Given the description of an element on the screen output the (x, y) to click on. 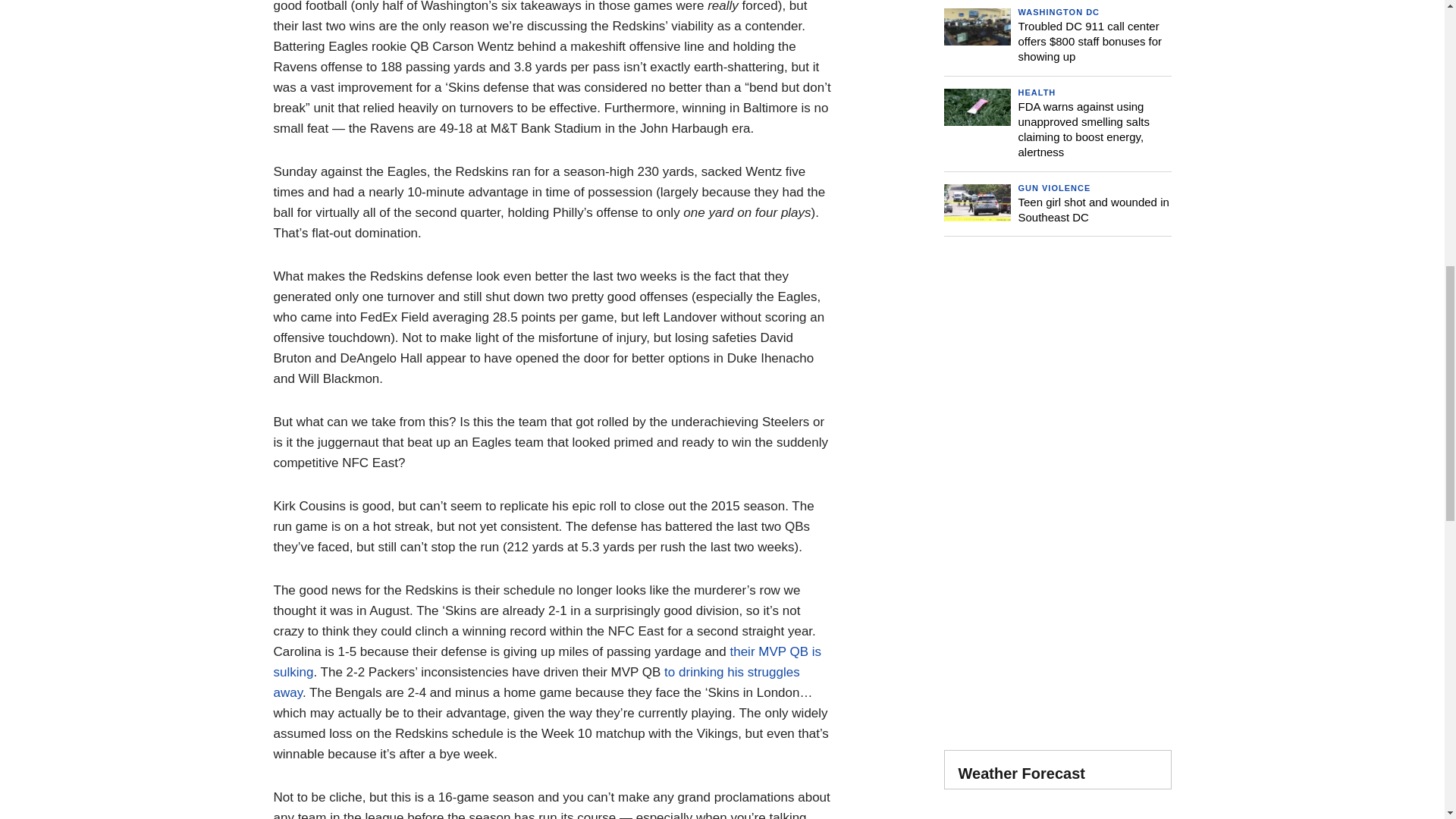
3rd party ad content (1056, 374)
to drinking his struggles away (536, 682)
their MVP QB is sulking (547, 661)
